Given the description of an element on the screen output the (x, y) to click on. 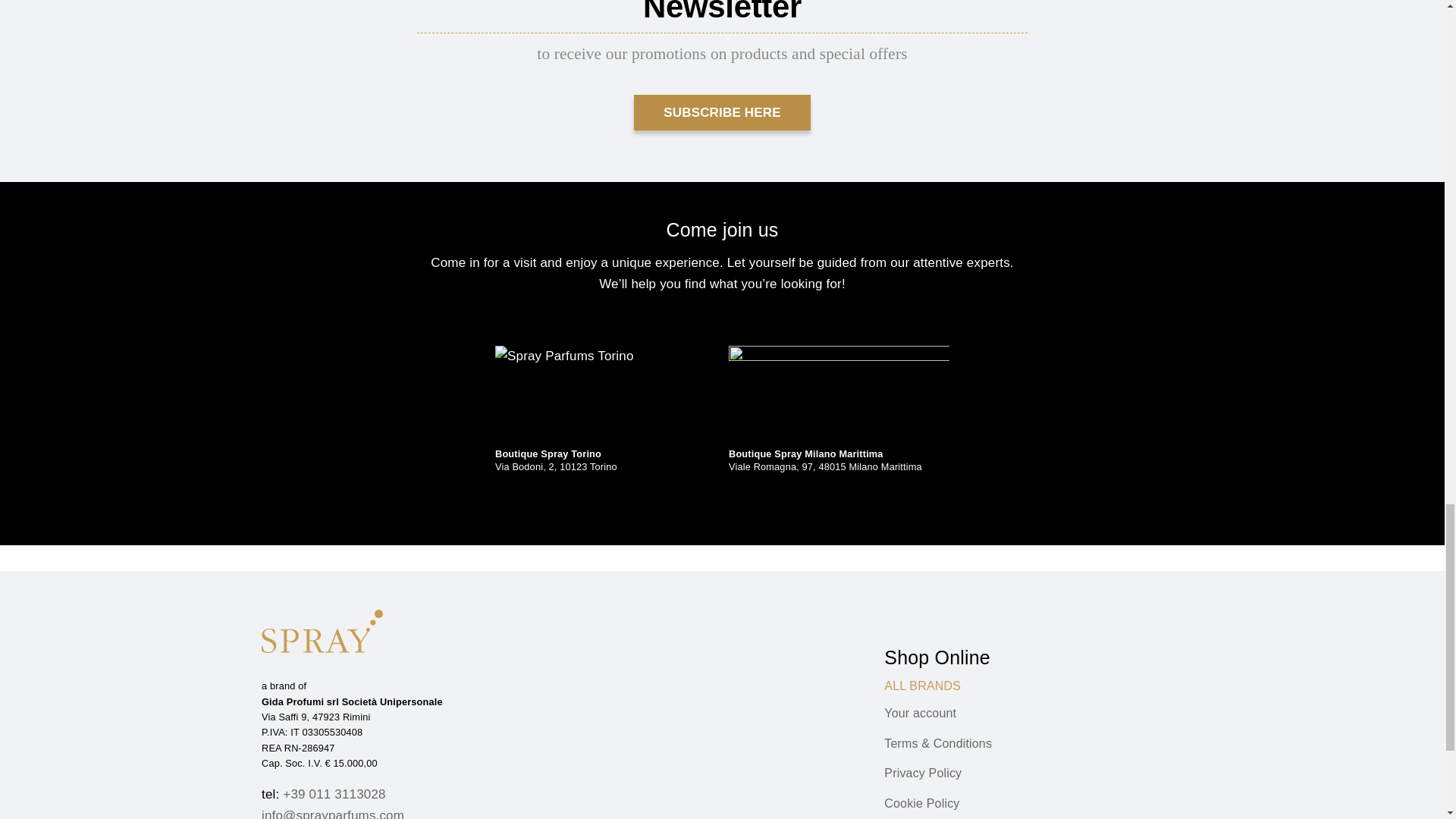
SUBSCRIBE HERE (721, 112)
